Given the description of an element on the screen output the (x, y) to click on. 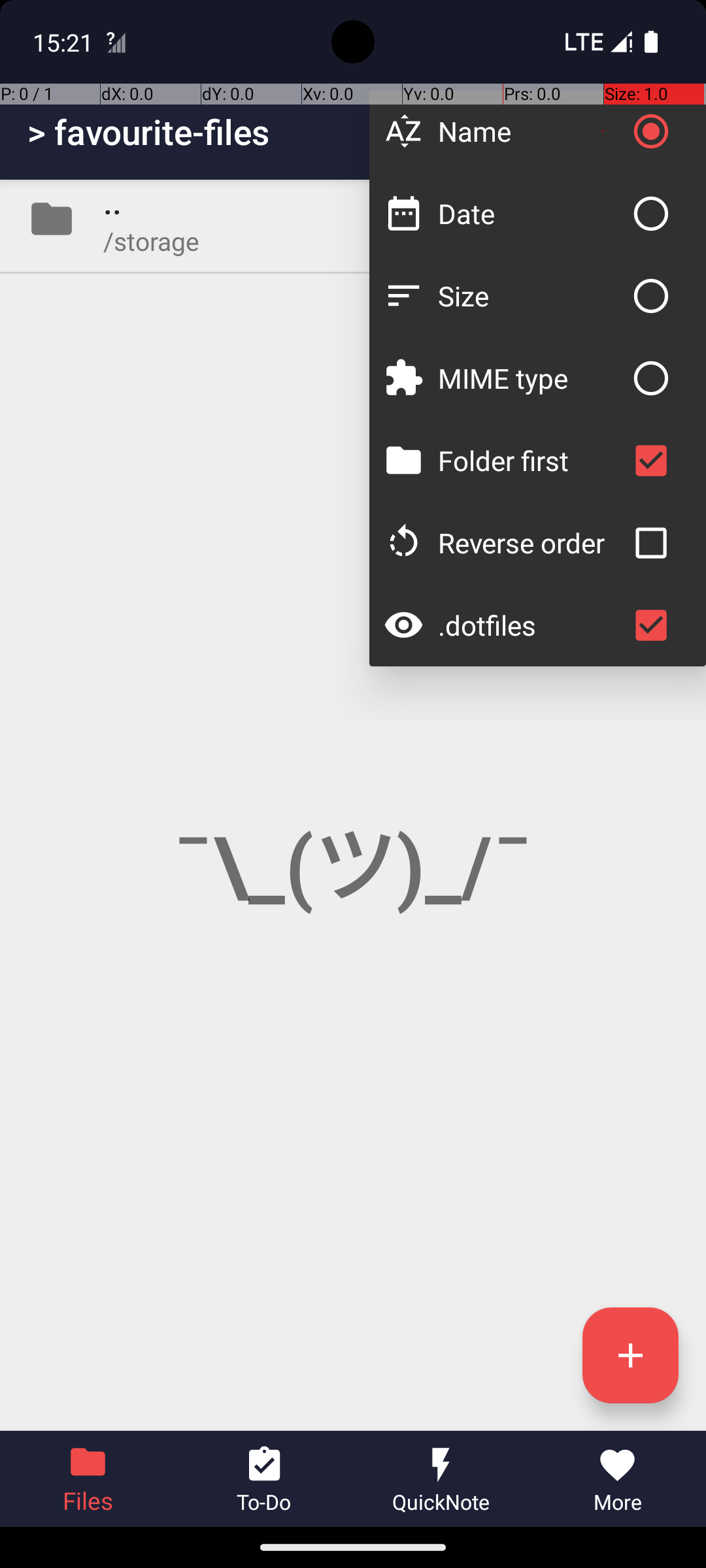
15:21 Element type: android.widget.TextView (64, 41)
